Given the description of an element on the screen output the (x, y) to click on. 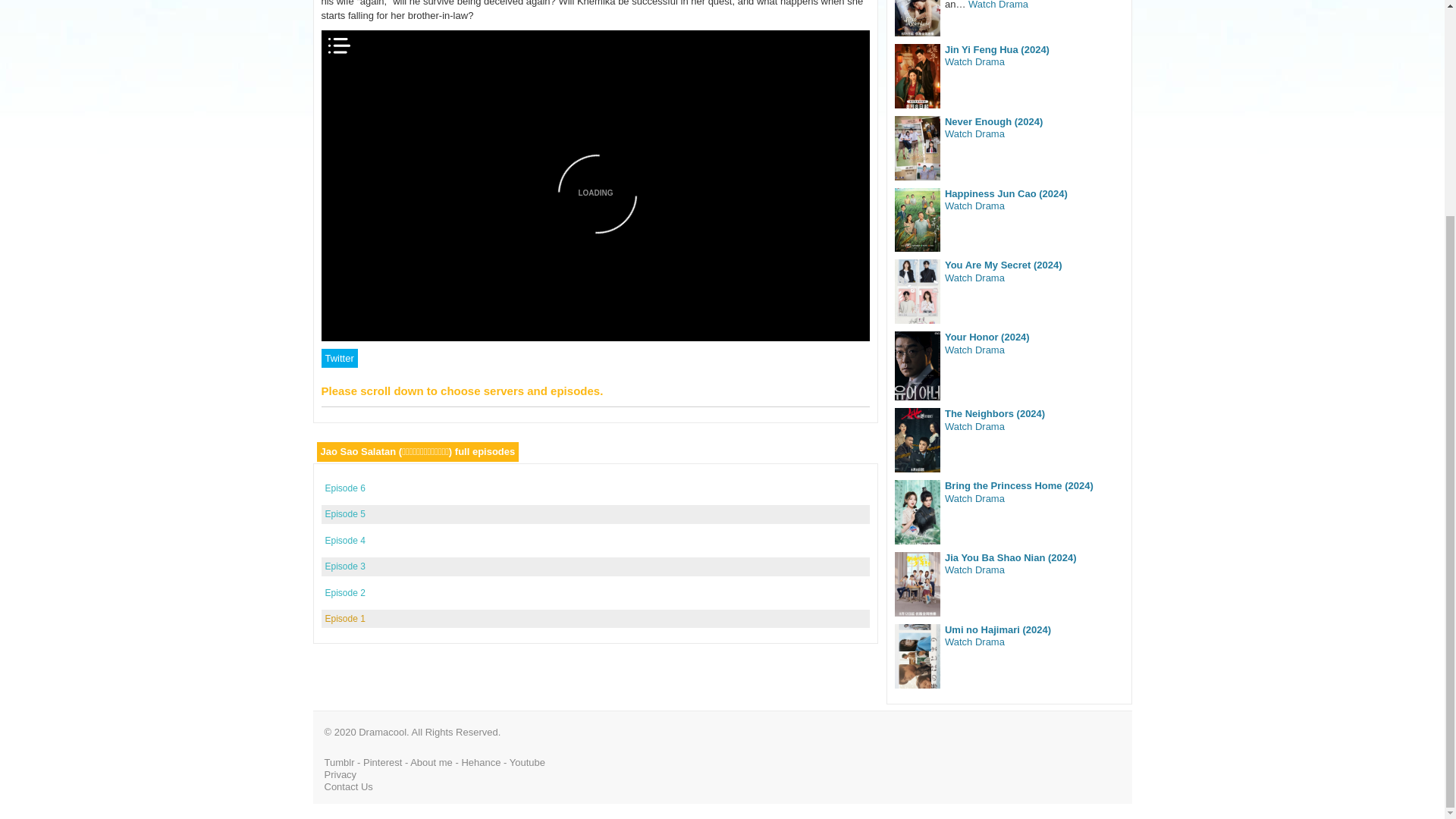
Episode 4 (344, 540)
Episode 6 (344, 488)
Episode 6 (344, 488)
Episode 1 (344, 618)
Episode 4 (344, 540)
Episode 2 (344, 593)
Episode 3 (344, 566)
Episode 3 (344, 566)
Episode 2 (344, 593)
Episode 5 (344, 513)
